Given the description of an element on the screen output the (x, y) to click on. 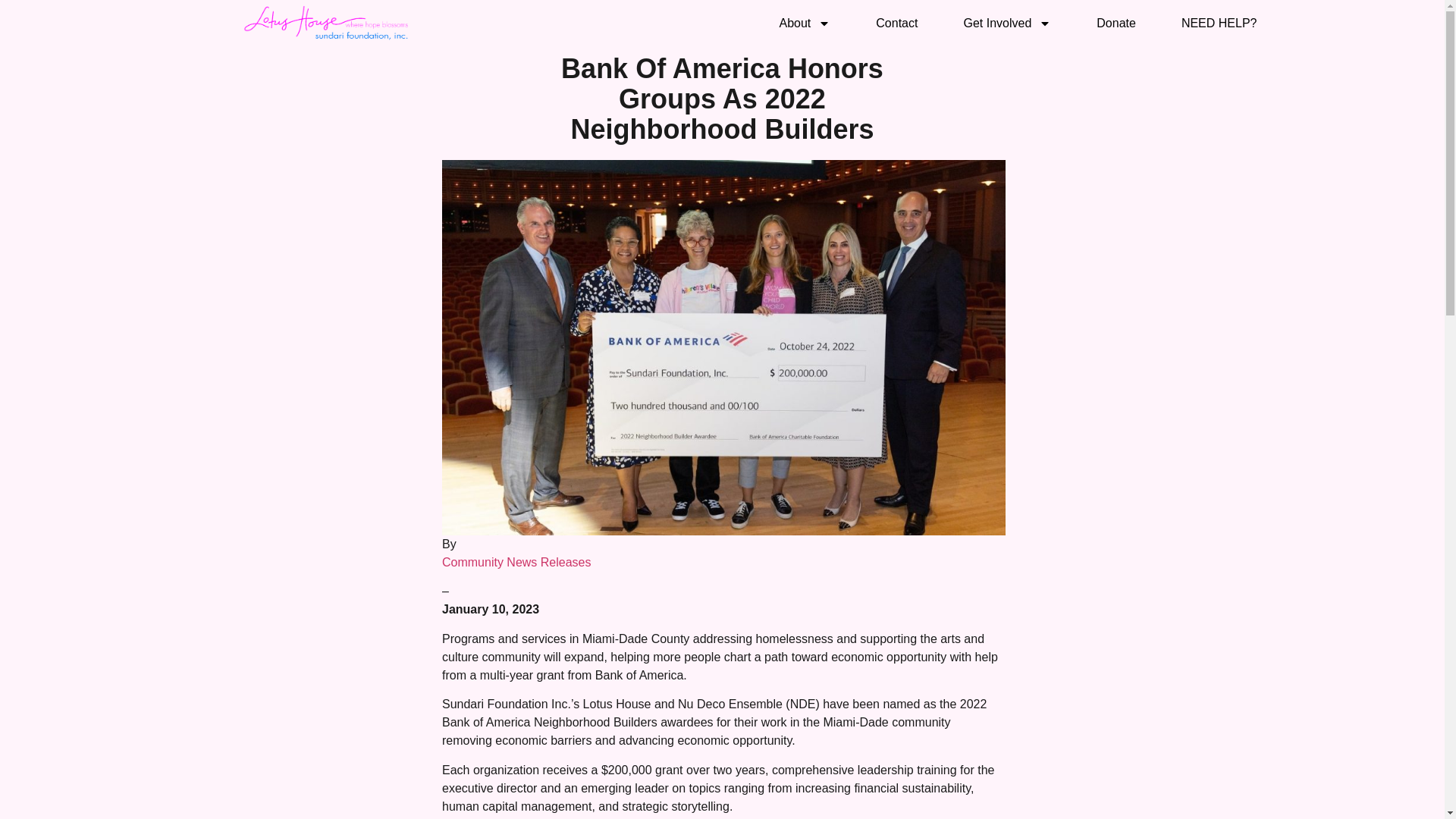
NEED HELP? (1218, 23)
About (804, 23)
Community News Releases (516, 562)
Get Involved (1006, 23)
